Given the description of an element on the screen output the (x, y) to click on. 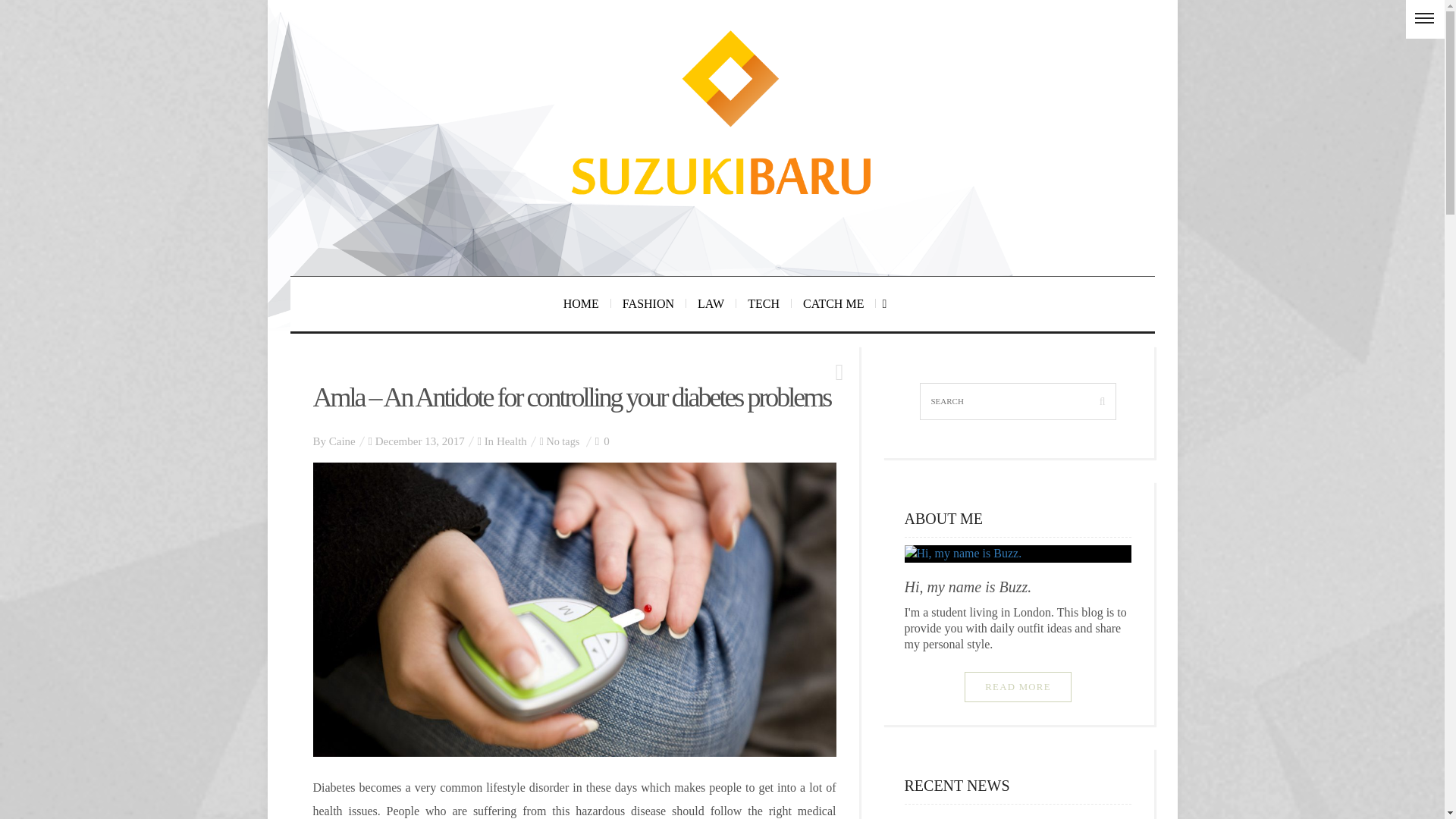
HOME (581, 303)
0 (602, 440)
TECH (764, 303)
Caine (342, 440)
Like this (602, 440)
December 13, 2017 (419, 440)
LAW (710, 303)
Posts by Caine (342, 440)
CATCH ME (834, 303)
READ MORE (1017, 686)
Health (511, 440)
FASHION (648, 303)
